Given the description of an element on the screen output the (x, y) to click on. 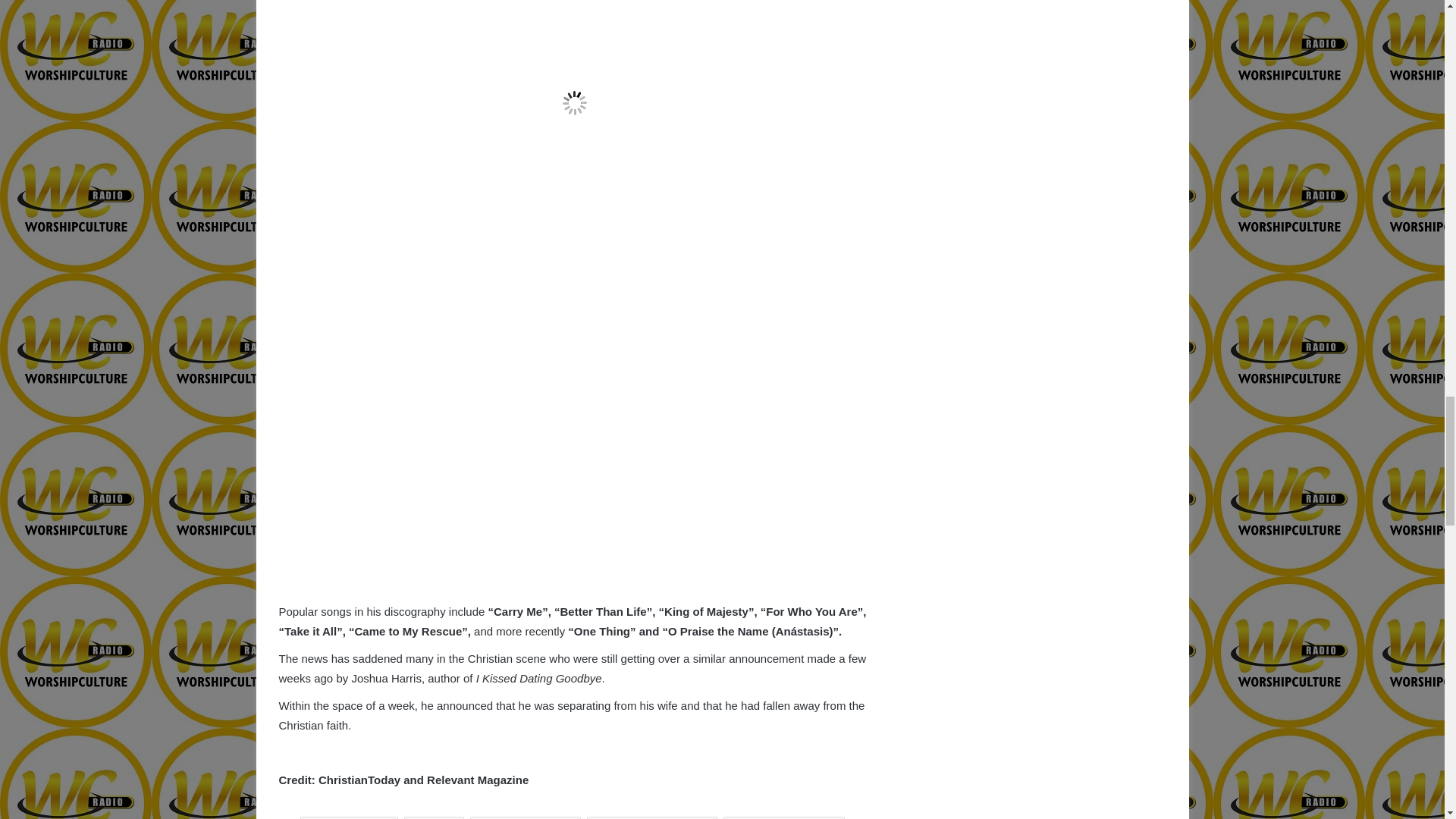
Gospel music (525, 817)
Faith (434, 817)
Marty Sampson (783, 817)
Christianity (348, 817)
Hillsong Worship (651, 817)
